Given the description of an element on the screen output the (x, y) to click on. 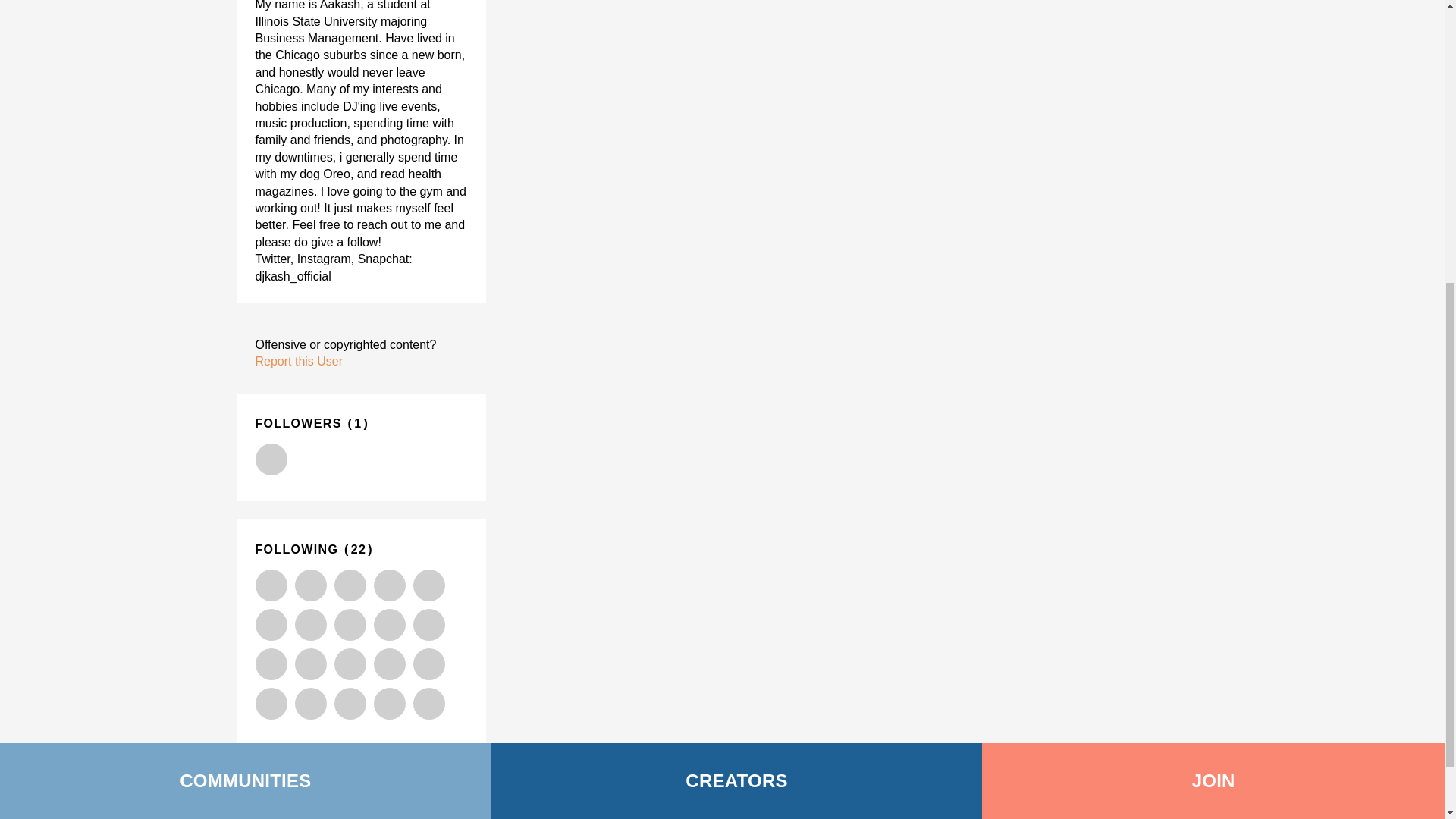
Chloe Hassenfratz (310, 664)
Sydney Welch (270, 624)
CREATORS (737, 319)
Dimitri Sotos (270, 585)
1 (357, 422)
COMMUNITIES (246, 319)
Report this User (298, 360)
Aisling O'Donnell (388, 664)
Brianna Morris (428, 664)
Hope M. Fairchild (349, 703)
addisoncake (310, 703)
Claudia Toledo (428, 624)
Hannah Westphal (310, 585)
22 (358, 549)
Erin Marie Person (310, 624)
